Given the description of an element on the screen output the (x, y) to click on. 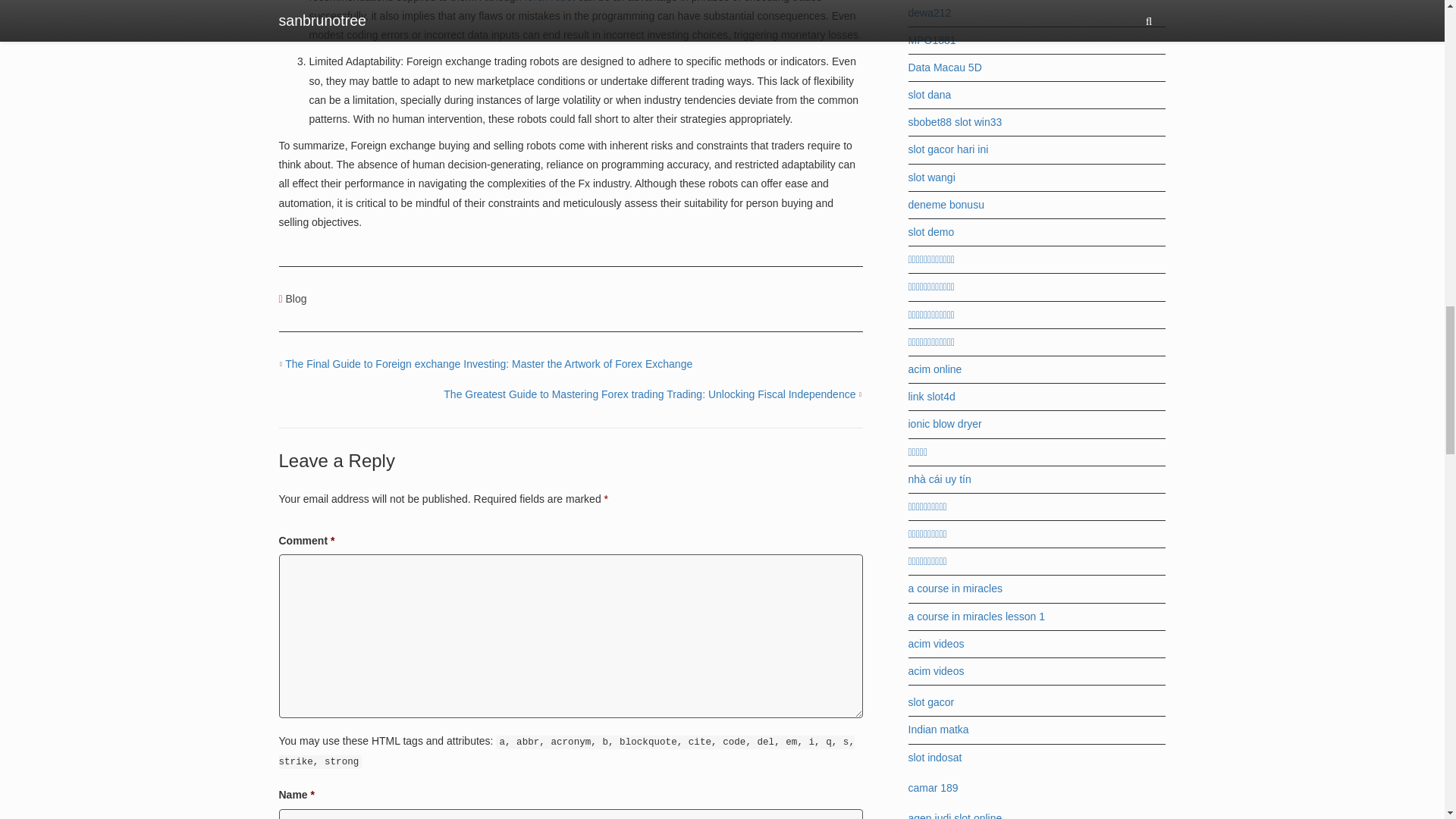
forex robot (549, 1)
Blog (296, 298)
